Given the description of an element on the screen output the (x, y) to click on. 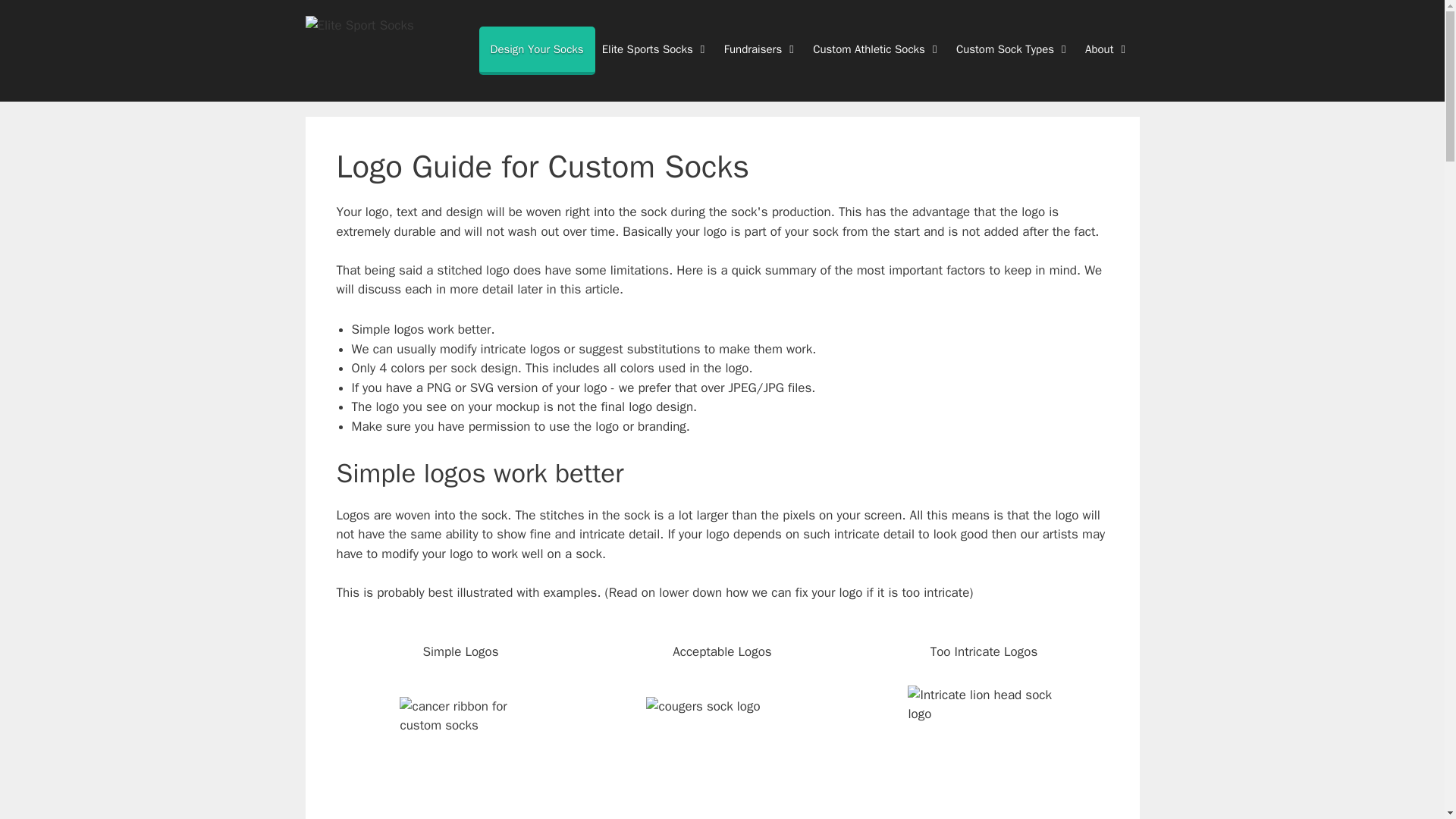
Custom Sock Types (1015, 49)
Elite Sports Socks (657, 49)
Intricate lion head sock logo (983, 749)
Design Your Socks (537, 50)
Custom Athletic Socks (879, 49)
Cancer ribbon for custom socks (459, 757)
About (1109, 49)
Fundraisers (763, 49)
Cougers Sock Logo (721, 748)
